Given the description of an element on the screen output the (x, y) to click on. 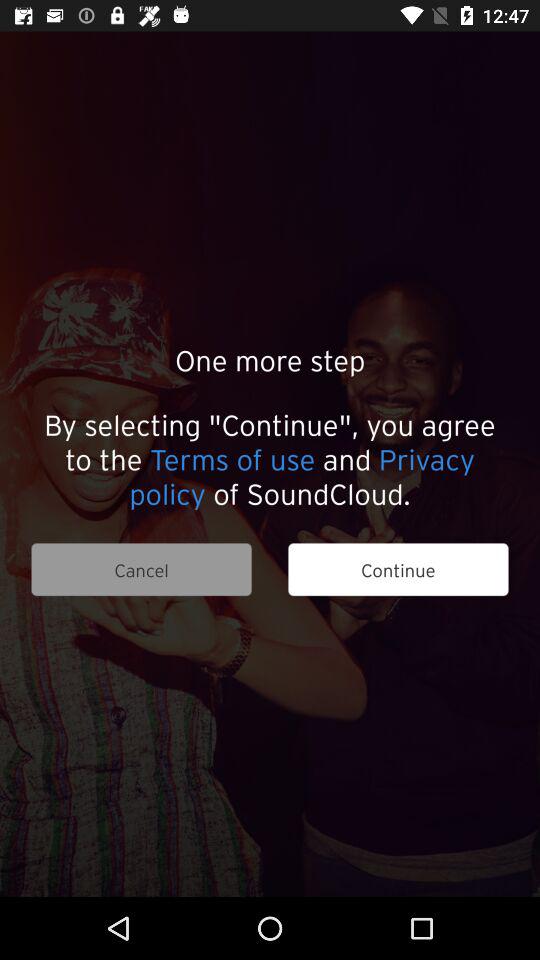
open item next to the continue item (141, 569)
